Given the description of an element on the screen output the (x, y) to click on. 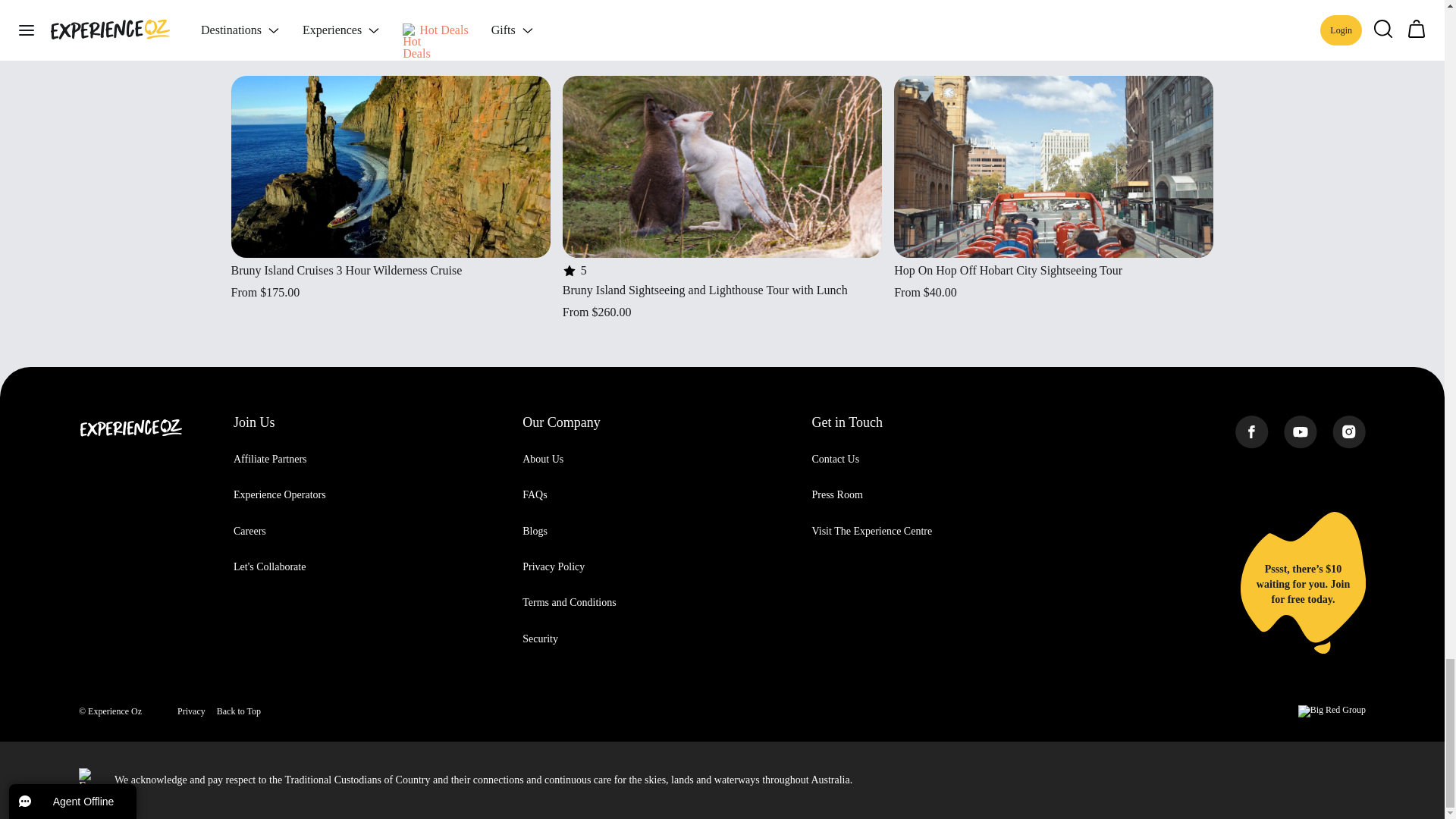
About Us (542, 459)
FAQs (534, 494)
Let's Collaborate (268, 566)
Careers (249, 531)
Privacy Policy (553, 566)
Experience Operators (279, 494)
Blogs (534, 531)
Affiliate Partners (269, 459)
